Given the description of an element on the screen output the (x, y) to click on. 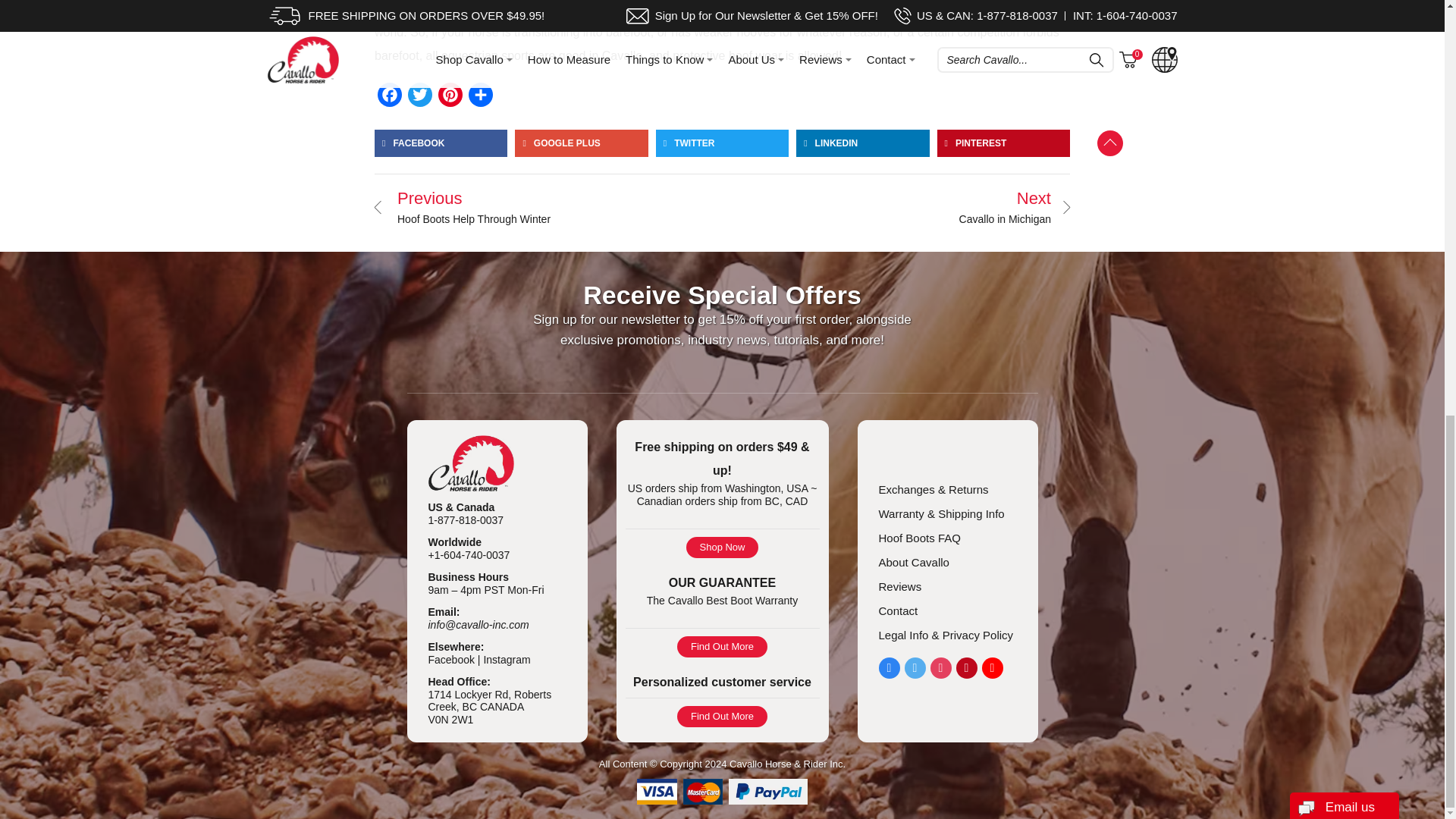
Pinterest (450, 94)
Facebook (389, 94)
Twitter (419, 94)
